Given the description of an element on the screen output the (x, y) to click on. 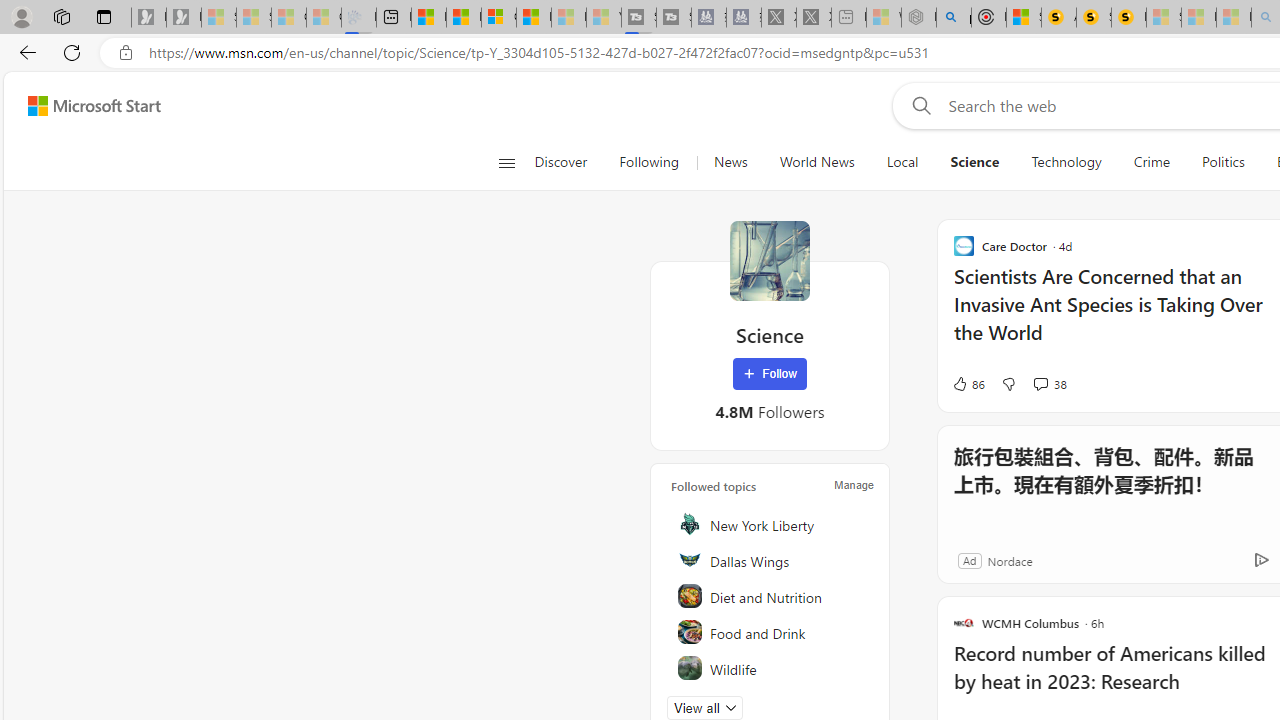
Food and Drink (771, 632)
Politics (1223, 162)
Open navigation menu (506, 162)
View all (704, 708)
Record number of Americans killed by heat in 2023: Research (1115, 678)
World News (816, 162)
Microsoft Start - Sleeping (568, 17)
